Given the description of an element on the screen output the (x, y) to click on. 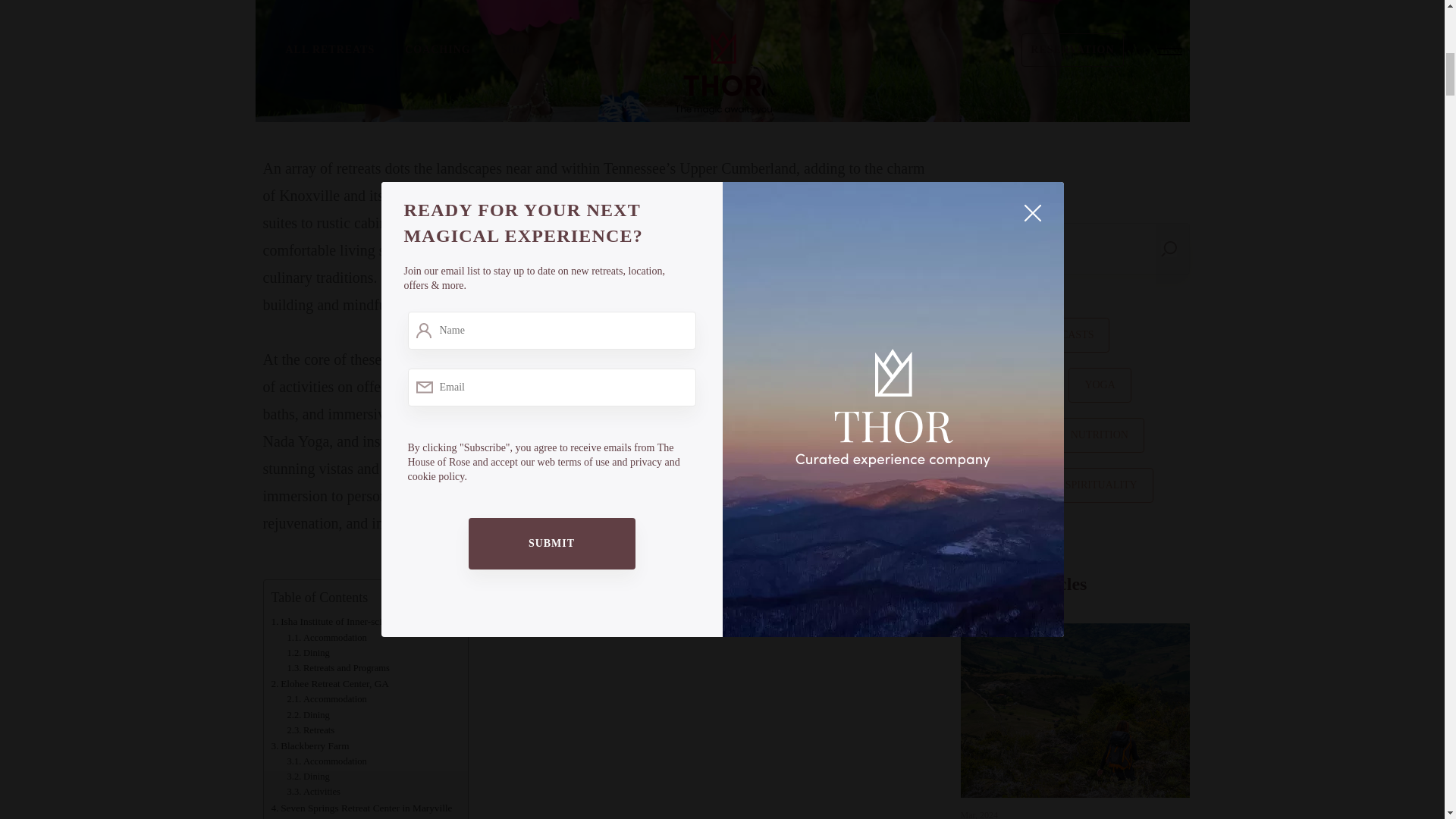
Accommodation (326, 817)
Retreats and Programs  (338, 667)
Blackberry Farm (309, 745)
Seven Springs Retreat Center in Maryville (361, 807)
Dining (307, 714)
Elohee Retreat Center, GA (329, 683)
Accommodation  (327, 637)
Accommodation (326, 761)
Isha Institute of Inner-sciences (337, 621)
Accommodation (326, 698)
Accommodation (326, 698)
